Given the description of an element on the screen output the (x, y) to click on. 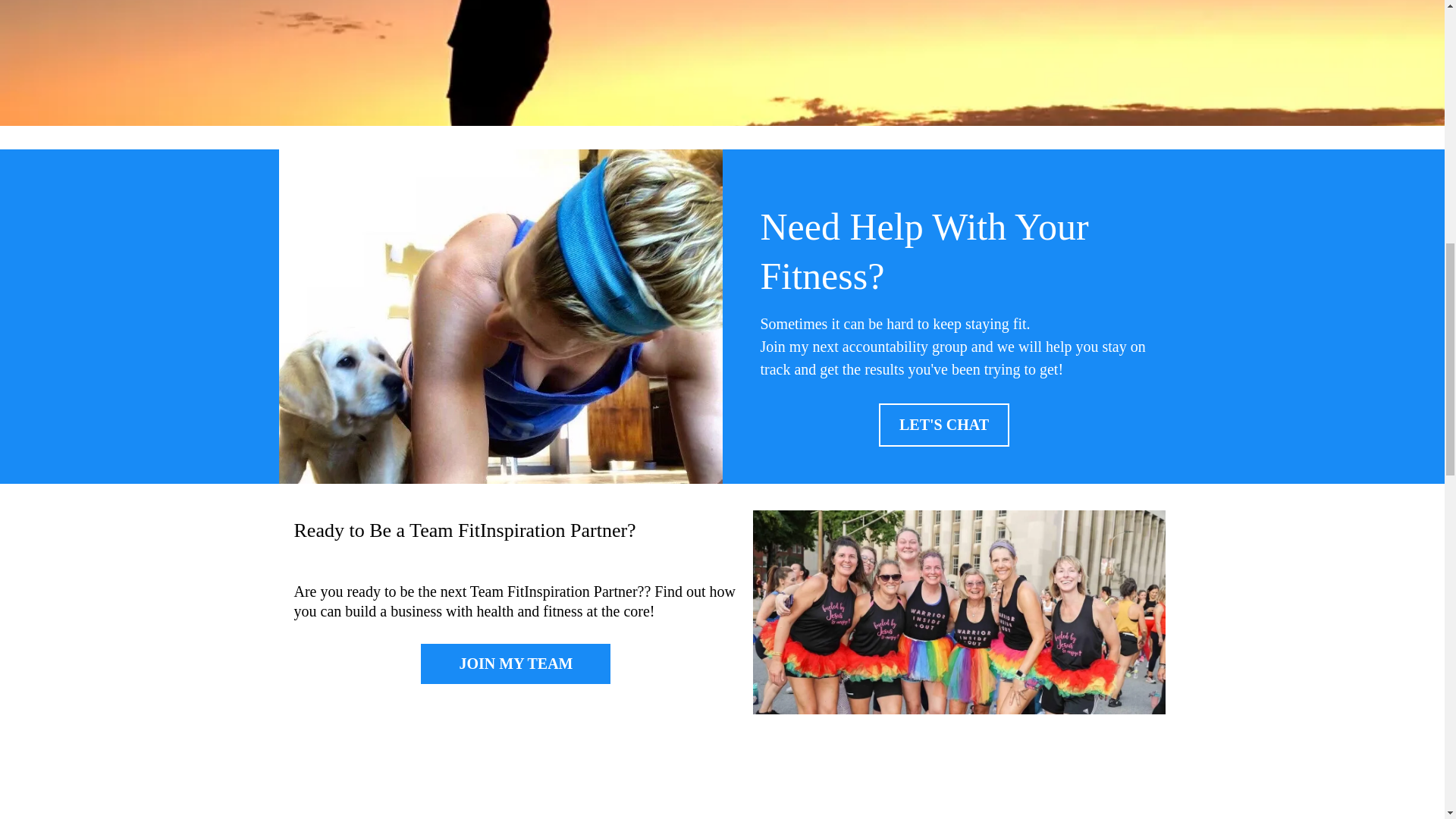
LET'S CHAT (944, 424)
JOIN MY TEAM (515, 663)
